Given the description of an element on the screen output the (x, y) to click on. 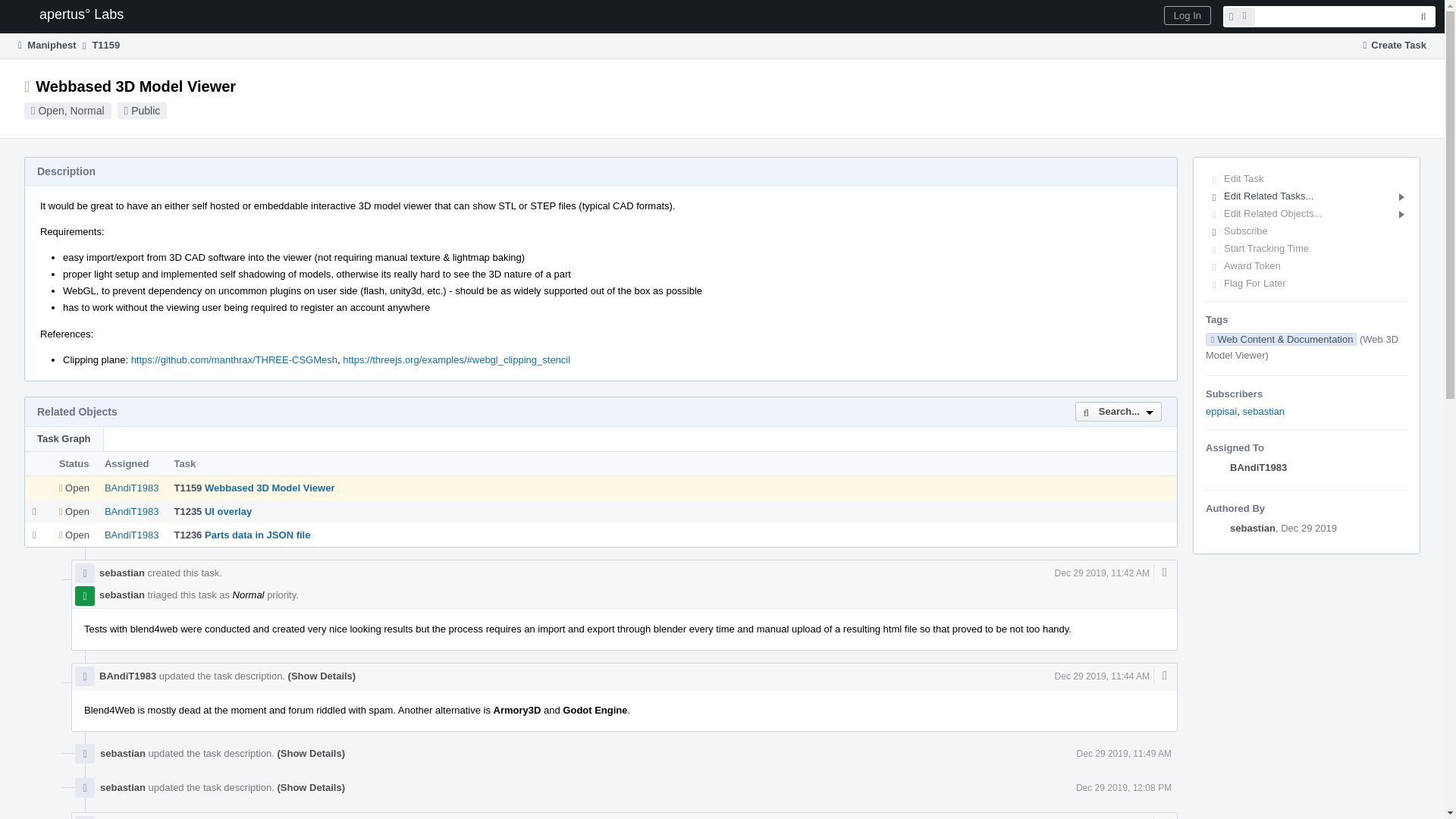
sebastian (1252, 527)
Award Token (1306, 265)
sebastian (1262, 410)
Task Graph (63, 438)
Public (145, 110)
eppisai (1220, 410)
BAndiT1983 (1258, 467)
Webbased 3D Model Viewer (269, 487)
Start Tracking Time (1306, 248)
Edit Related Tasks... (1306, 195)
